Given the description of an element on the screen output the (x, y) to click on. 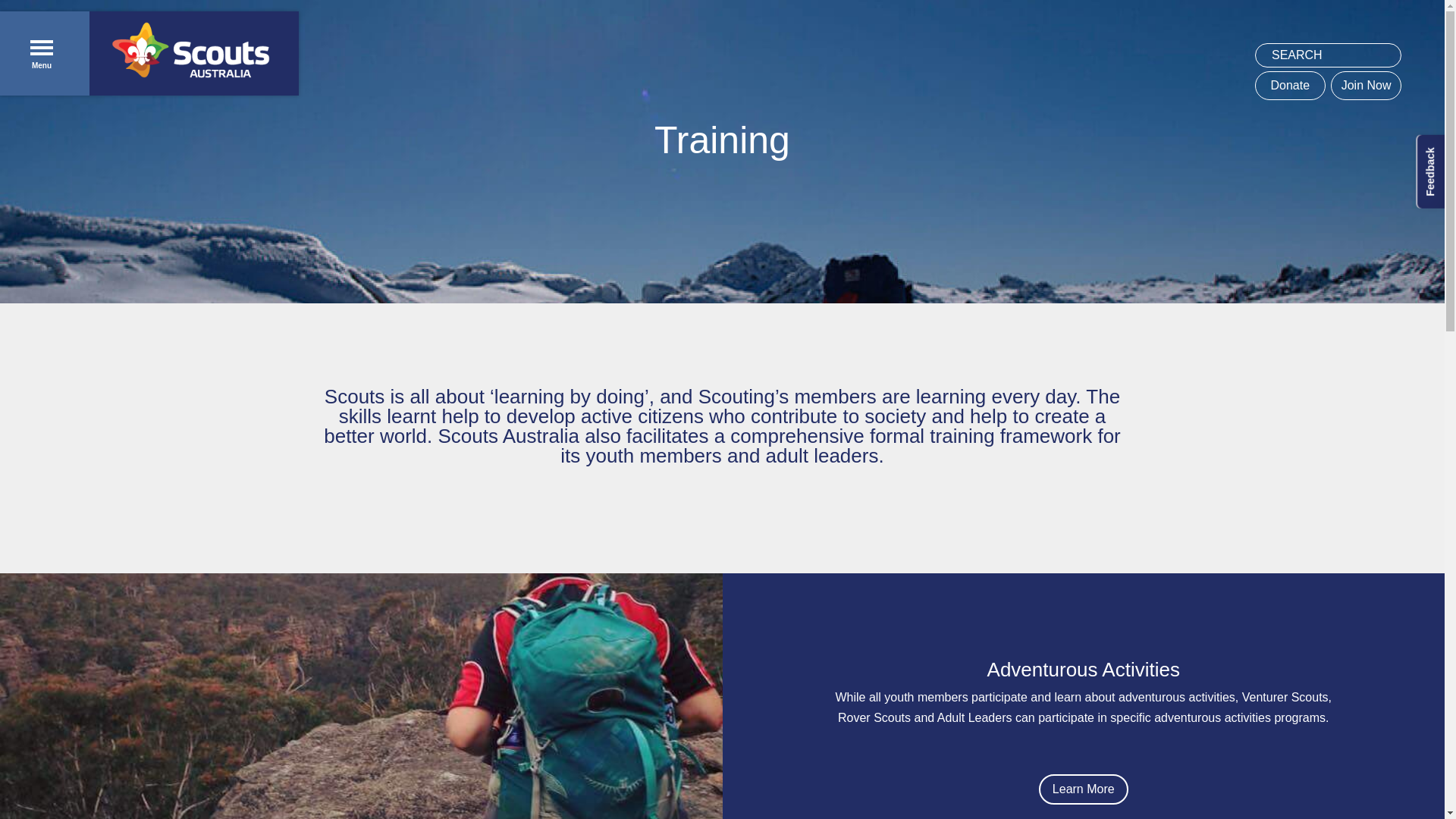
Join Now (1365, 85)
Donate (1289, 85)
Learn More (1083, 789)
